Given the description of an element on the screen output the (x, y) to click on. 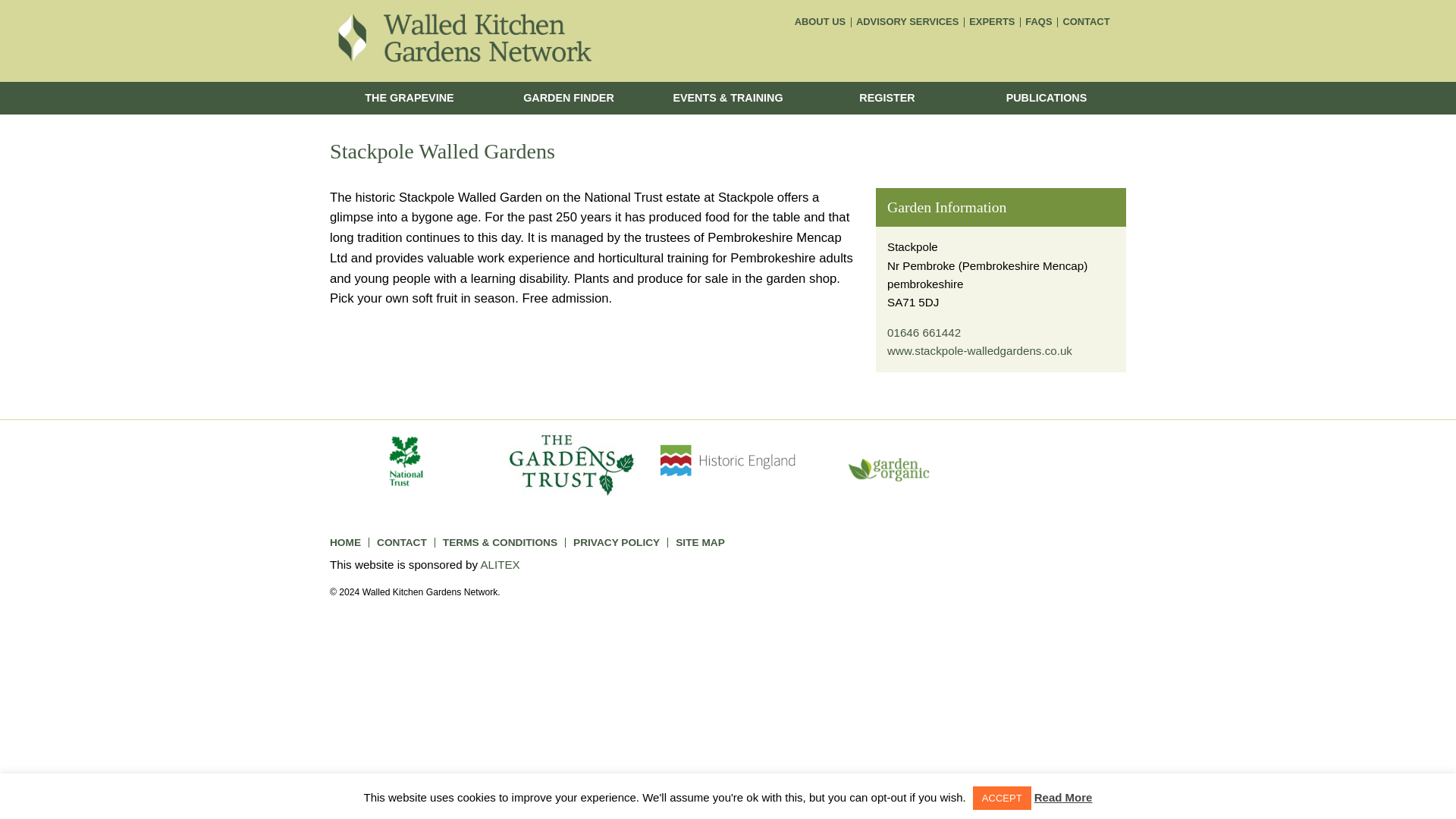
Page 16 (591, 265)
CONTACT (401, 542)
www.stackpole-walledgardens.co.uk (978, 350)
SITE MAP (700, 542)
01646 661442 (923, 332)
ABOUT US (819, 22)
THE GRAPEVINE (409, 97)
ALITEX (499, 563)
FAQS (1038, 22)
GARDEN FINDER (568, 97)
PRIVACY POLICY (616, 542)
ADVISORY SERVICES (906, 22)
REGISTER (887, 97)
PUBLICATIONS (1045, 97)
CONTACT (1086, 22)
